Given the description of an element on the screen output the (x, y) to click on. 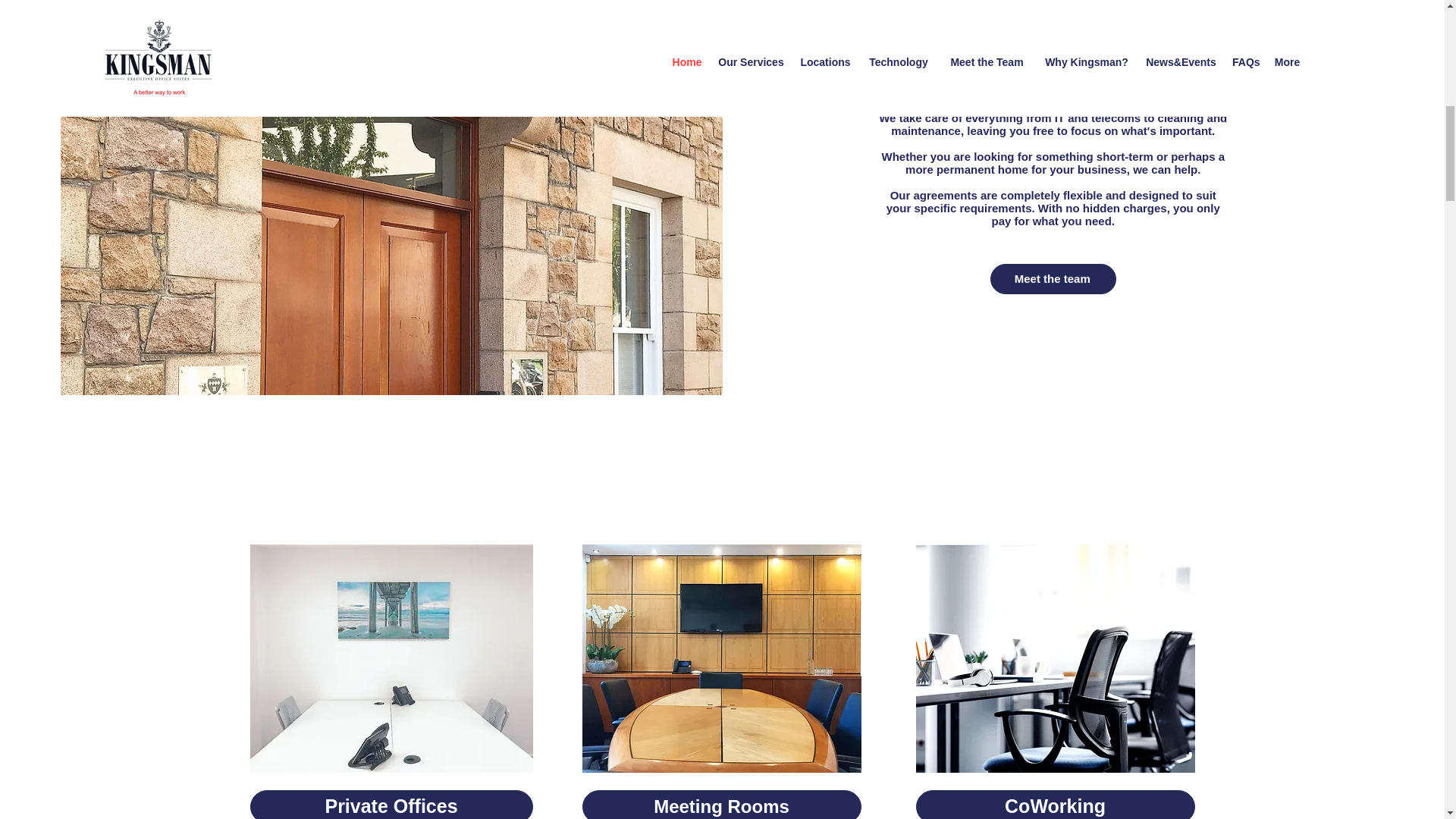
CoWorking (1055, 804)
Meet the team (1053, 278)
Private Offices (391, 804)
Meeting Rooms (721, 804)
